Given the description of an element on the screen output the (x, y) to click on. 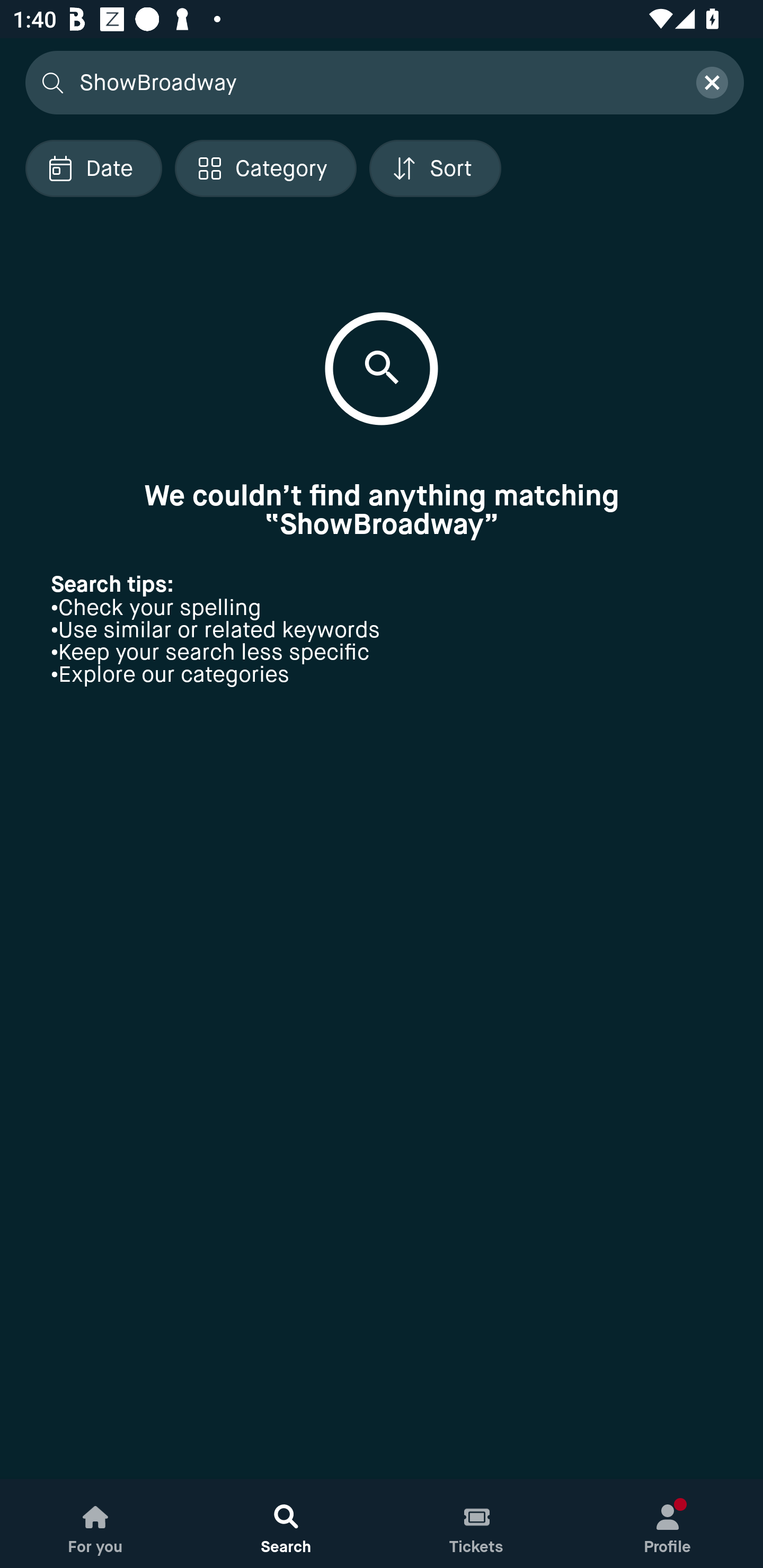
ShowBroadway (376, 81)
Localized description Date (93, 168)
Localized description Category (265, 168)
Localized description Sort (435, 168)
We couldn’t find anything matching “ShowBroadway” (381, 509)
For you (95, 1523)
Tickets (476, 1523)
Profile, New notification Profile (667, 1523)
